Given the description of an element on the screen output the (x, y) to click on. 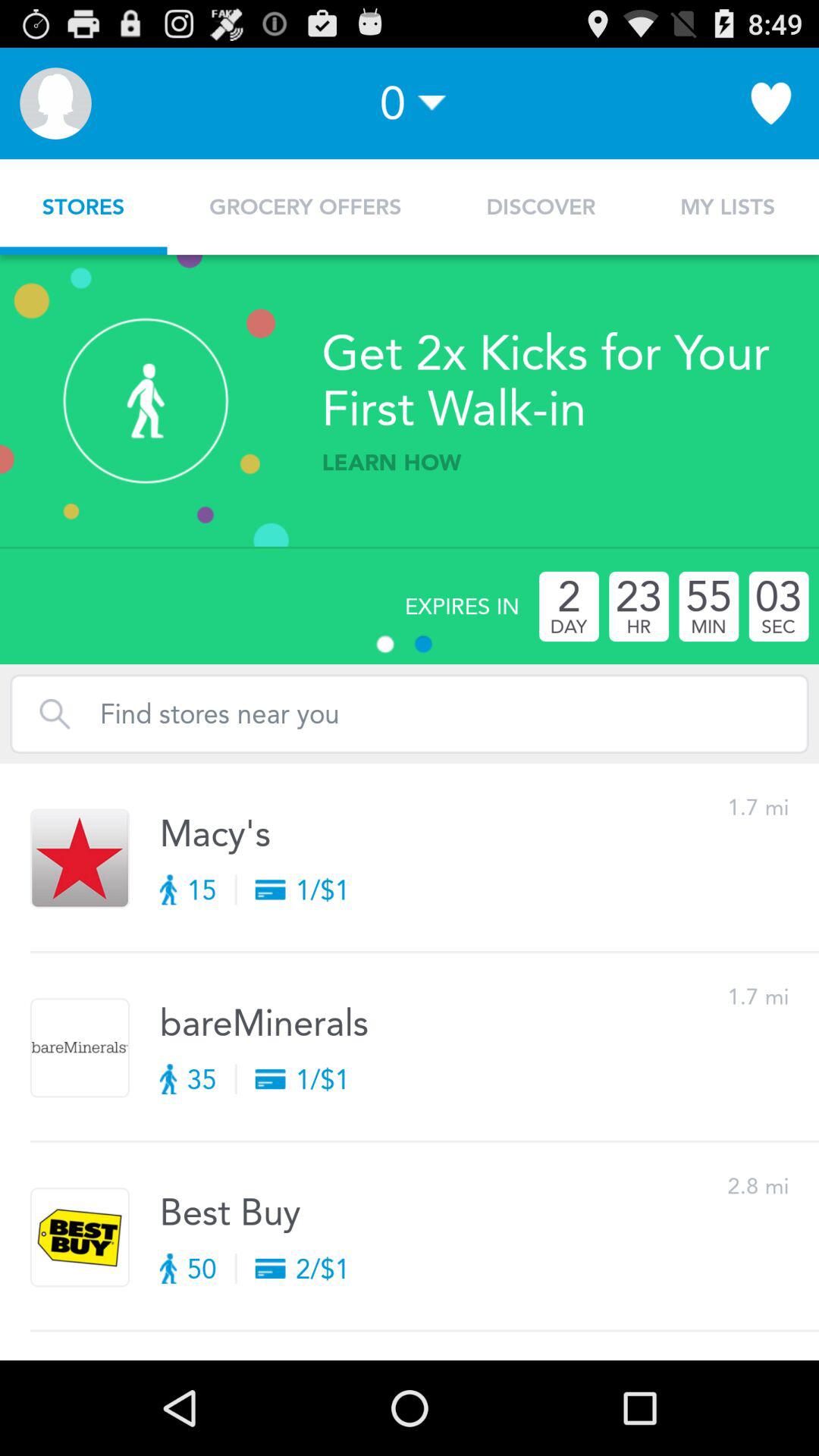
tap the item next to 0 (55, 103)
